Given the description of an element on the screen output the (x, y) to click on. 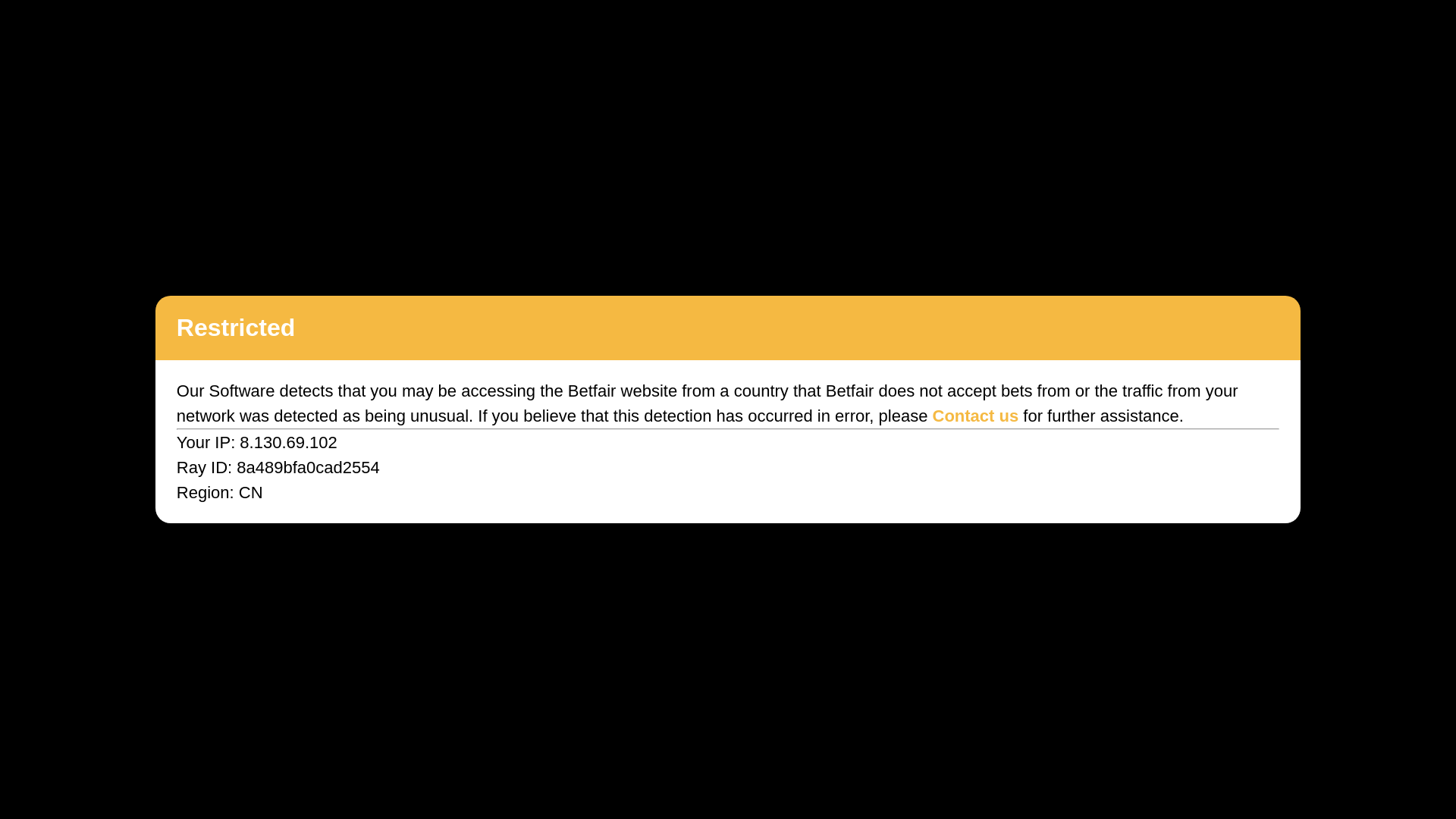
Contact us (976, 415)
